Given the description of an element on the screen output the (x, y) to click on. 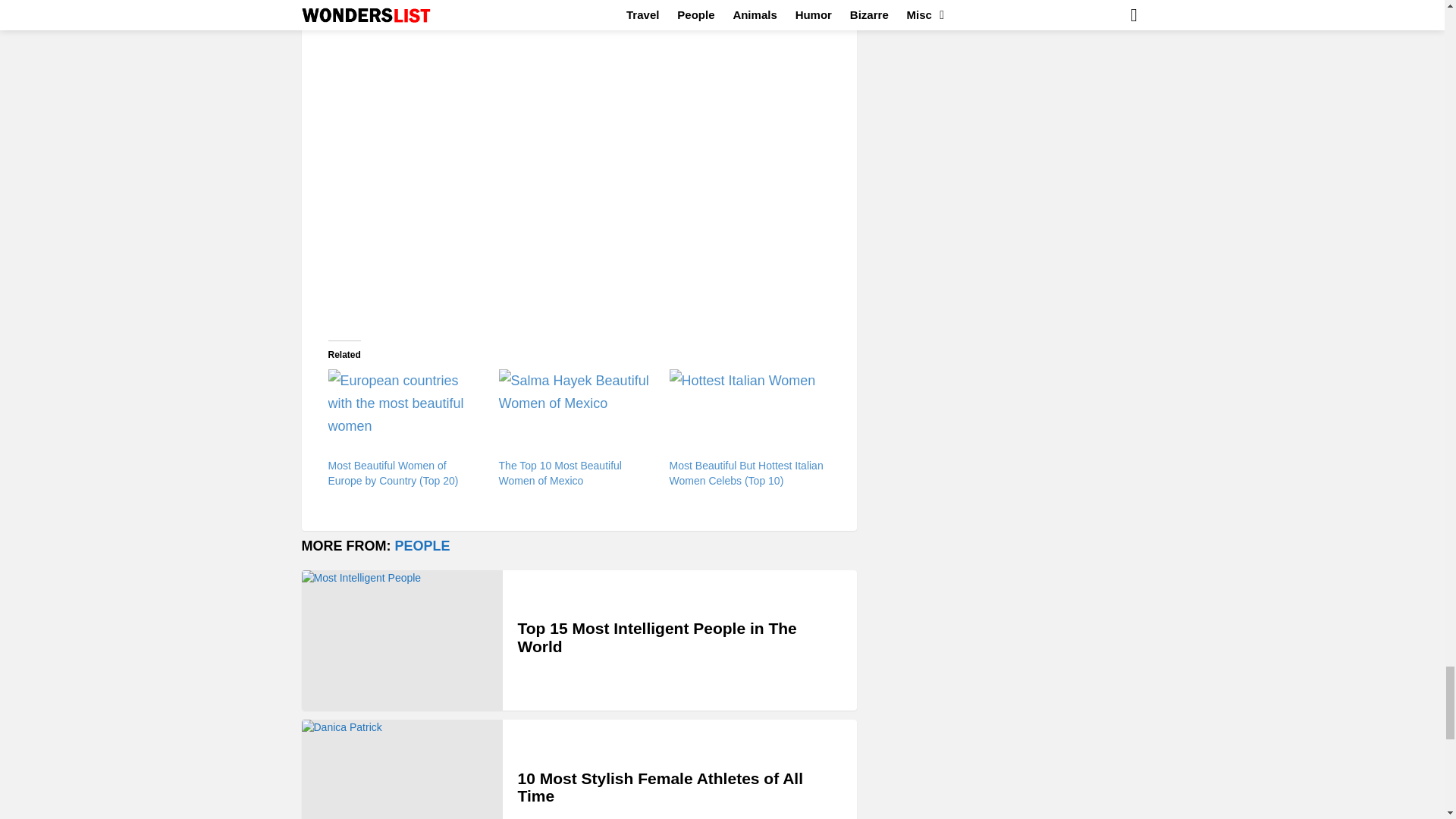
The Top 10 Most Beautiful Women of Mexico (560, 472)
The Top 10 Most Beautiful Women of Mexico (560, 472)
Top 15 Most Intelligent People in The World (401, 640)
The Top 10 Most Beautiful Women of Mexico (576, 413)
